Given the description of an element on the screen output the (x, y) to click on. 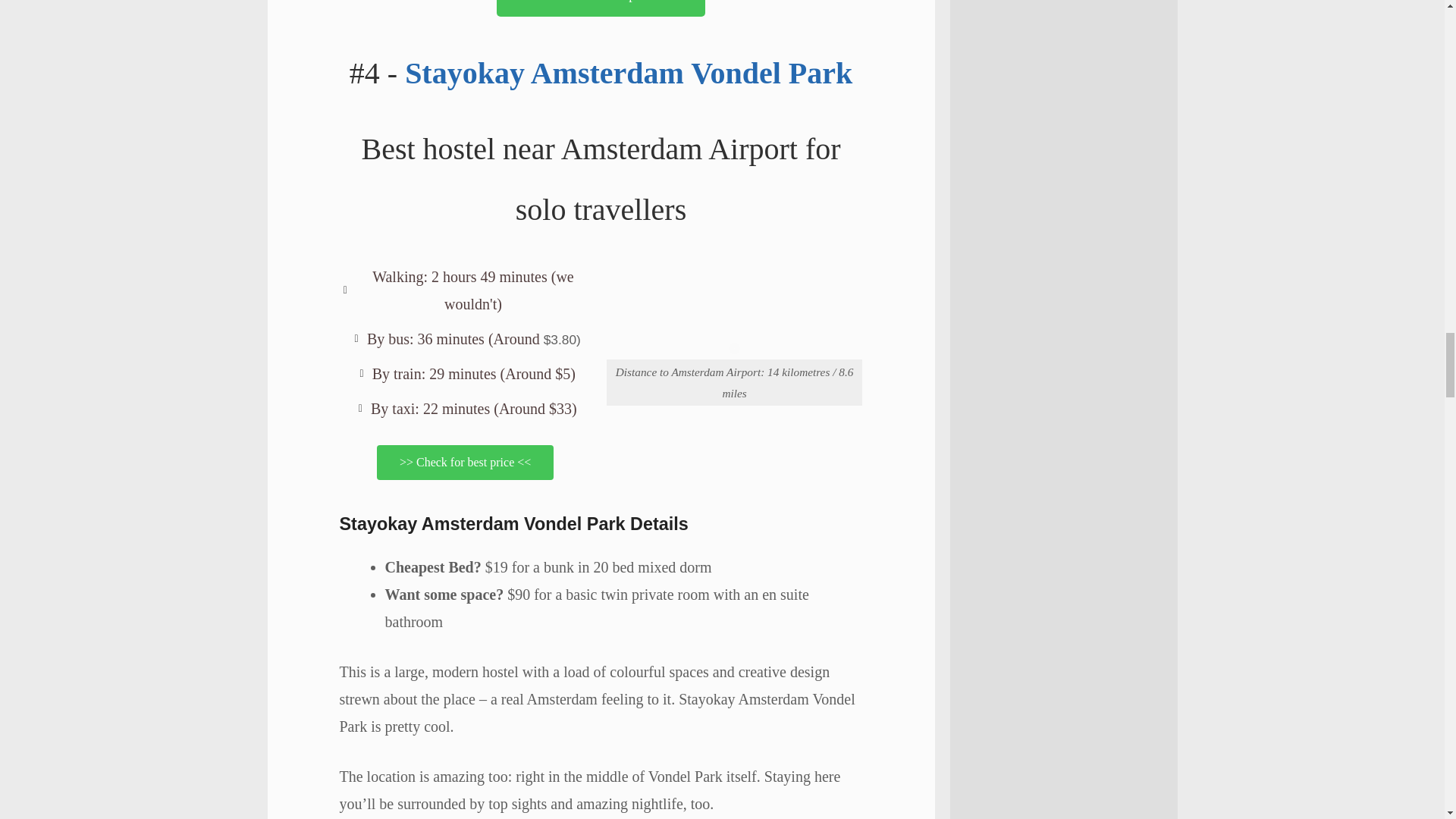
Stayokay Amsterdam Vondel Park (627, 73)
